Given the description of an element on the screen output the (x, y) to click on. 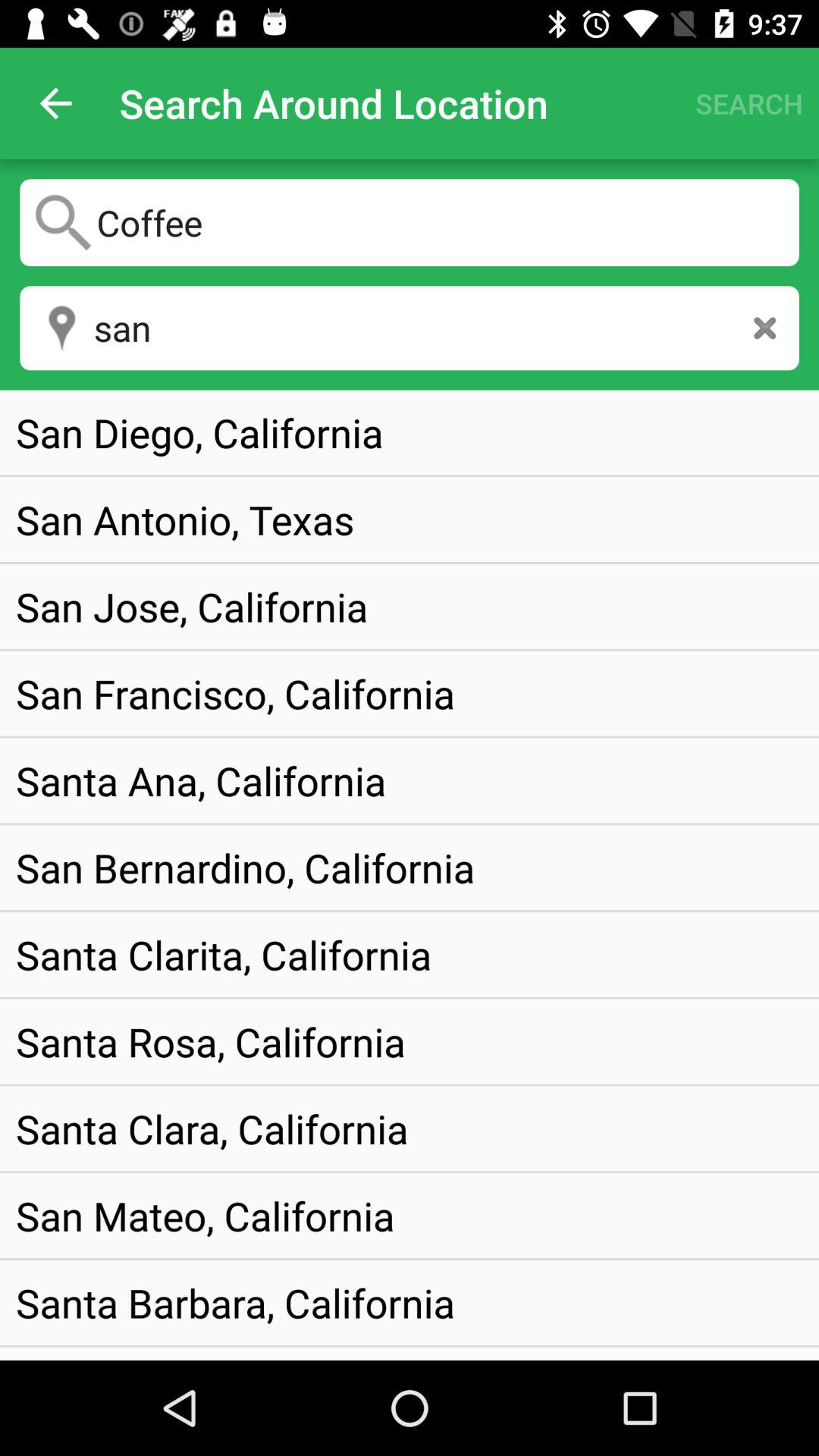
choose item below the santa barbara, california item (178, 1353)
